Given the description of an element on the screen output the (x, y) to click on. 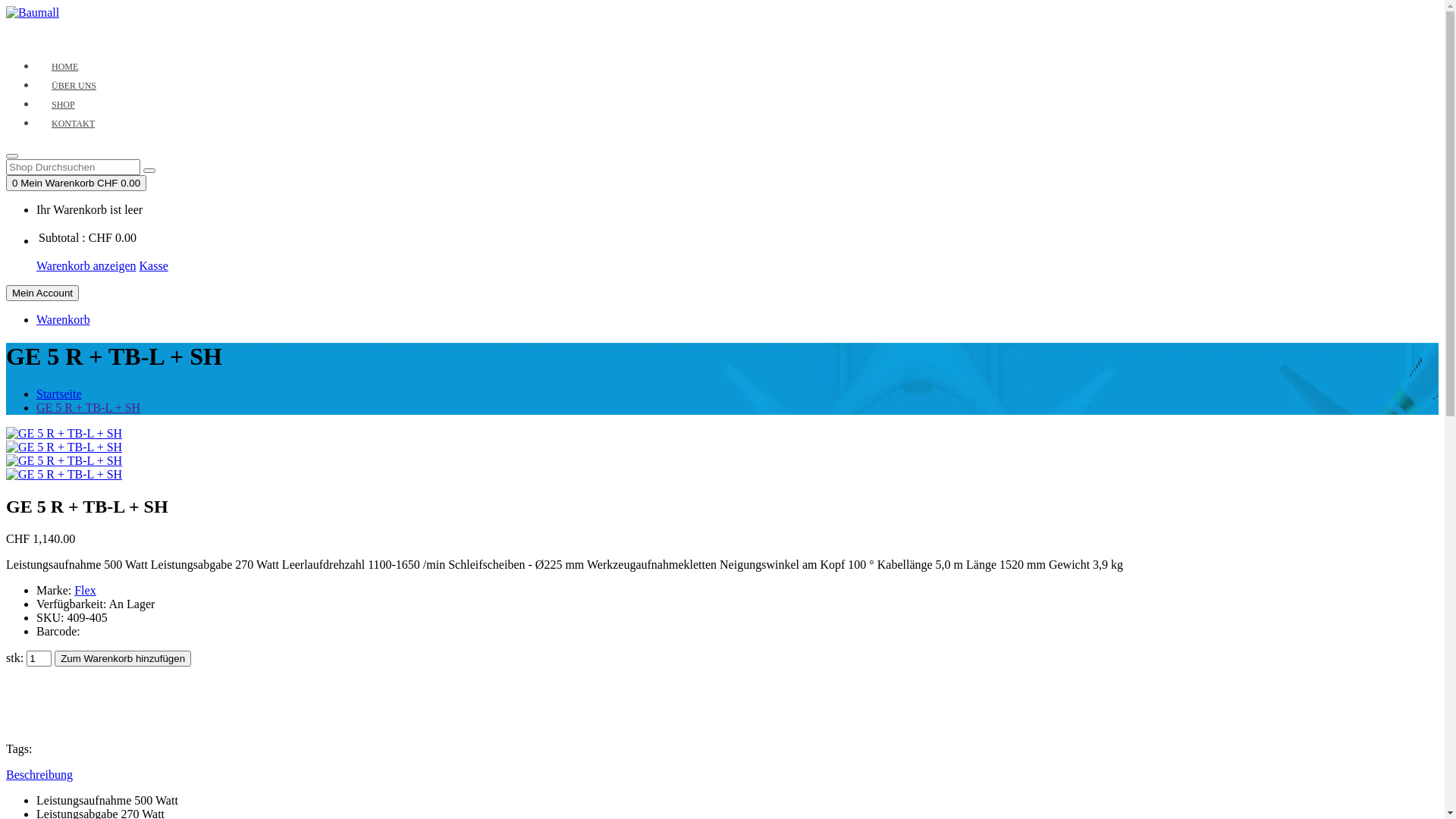
SHOP Element type: text (63, 104)
Kasse Element type: text (153, 265)
HOME Element type: text (64, 66)
GE 5 R + TB-L + SH Element type: hover (64, 447)
GE 5 R + TB-L + SH Element type: text (88, 407)
Warenkorb anzeigen Element type: text (86, 265)
Mein Account Element type: text (42, 293)
KONTAKT Element type: text (72, 123)
GE 5 R + TB-L + SH Element type: hover (64, 433)
0 Mein Warenkorb CHF 0.00 Element type: text (76, 183)
Shop Element type: text (212, 40)
GE 5 R + TB-L + SH Element type: hover (64, 473)
GE 5 R + TB-L + SH Element type: hover (64, 460)
GE 5 R + TB-L + SH Element type: hover (64, 460)
GE 5 R + TB-L + SH Element type: hover (64, 474)
GE 5 R + TB-L + SH Element type: hover (64, 446)
Kontakt Element type: text (281, 40)
Flex Element type: text (84, 589)
Warenkorb Element type: text (63, 319)
Startseite Element type: text (58, 393)
Home Element type: text (68, 40)
Beschreibung Element type: text (39, 774)
